Given the description of an element on the screen output the (x, y) to click on. 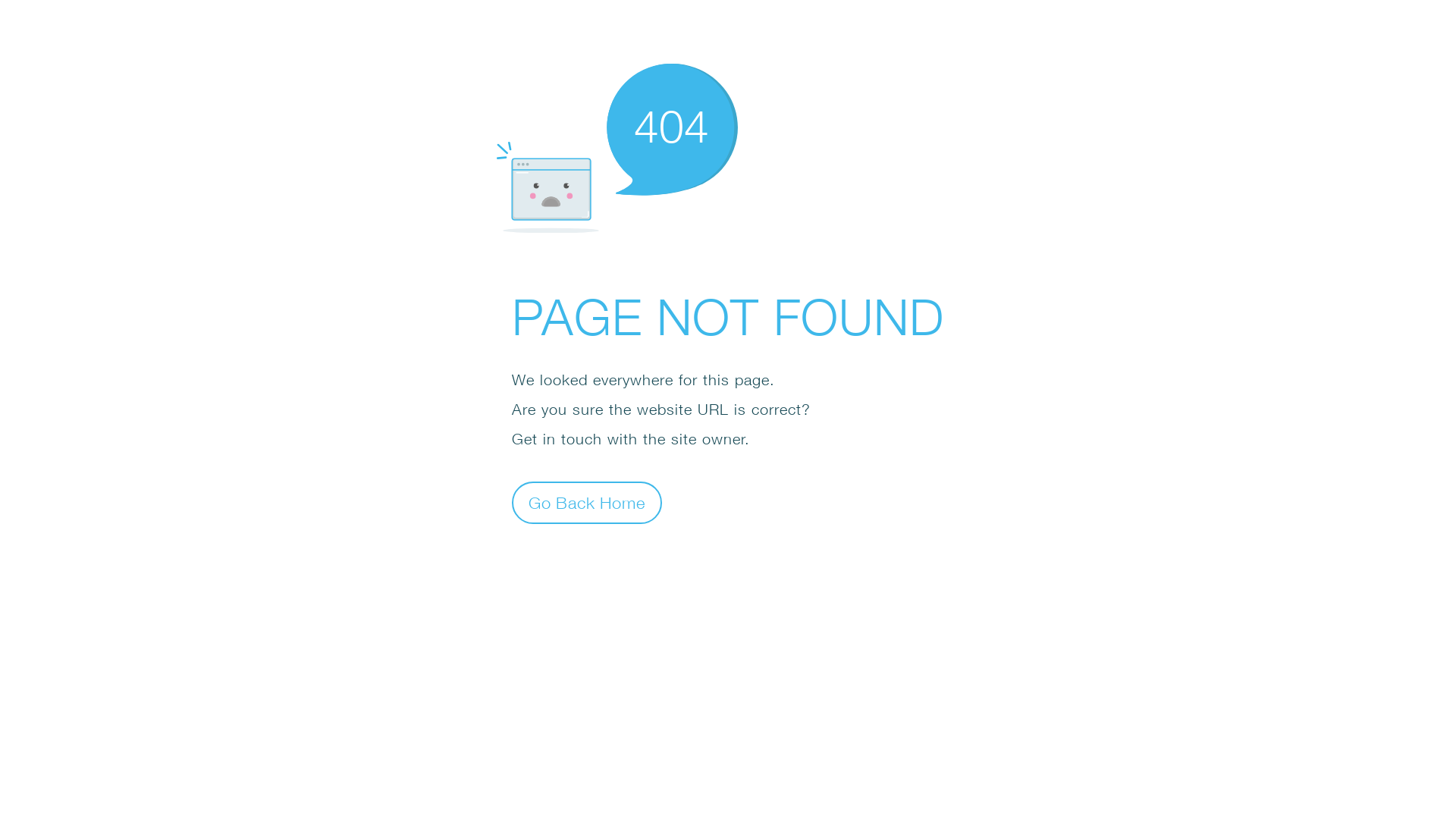
Go Back Home Element type: text (586, 502)
